Given the description of an element on the screen output the (x, y) to click on. 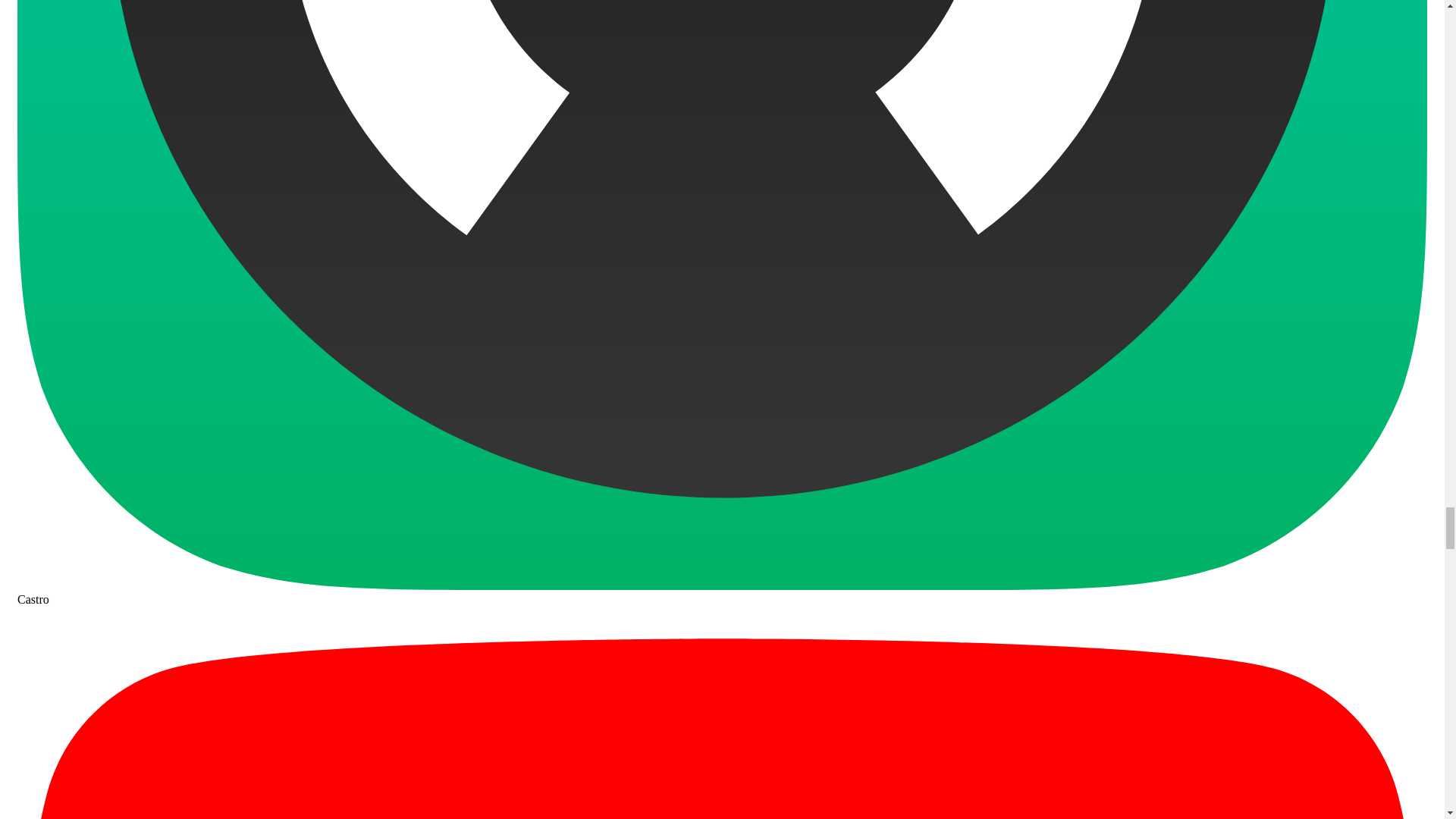
Castro (721, 592)
